Given the description of an element on the screen output the (x, y) to click on. 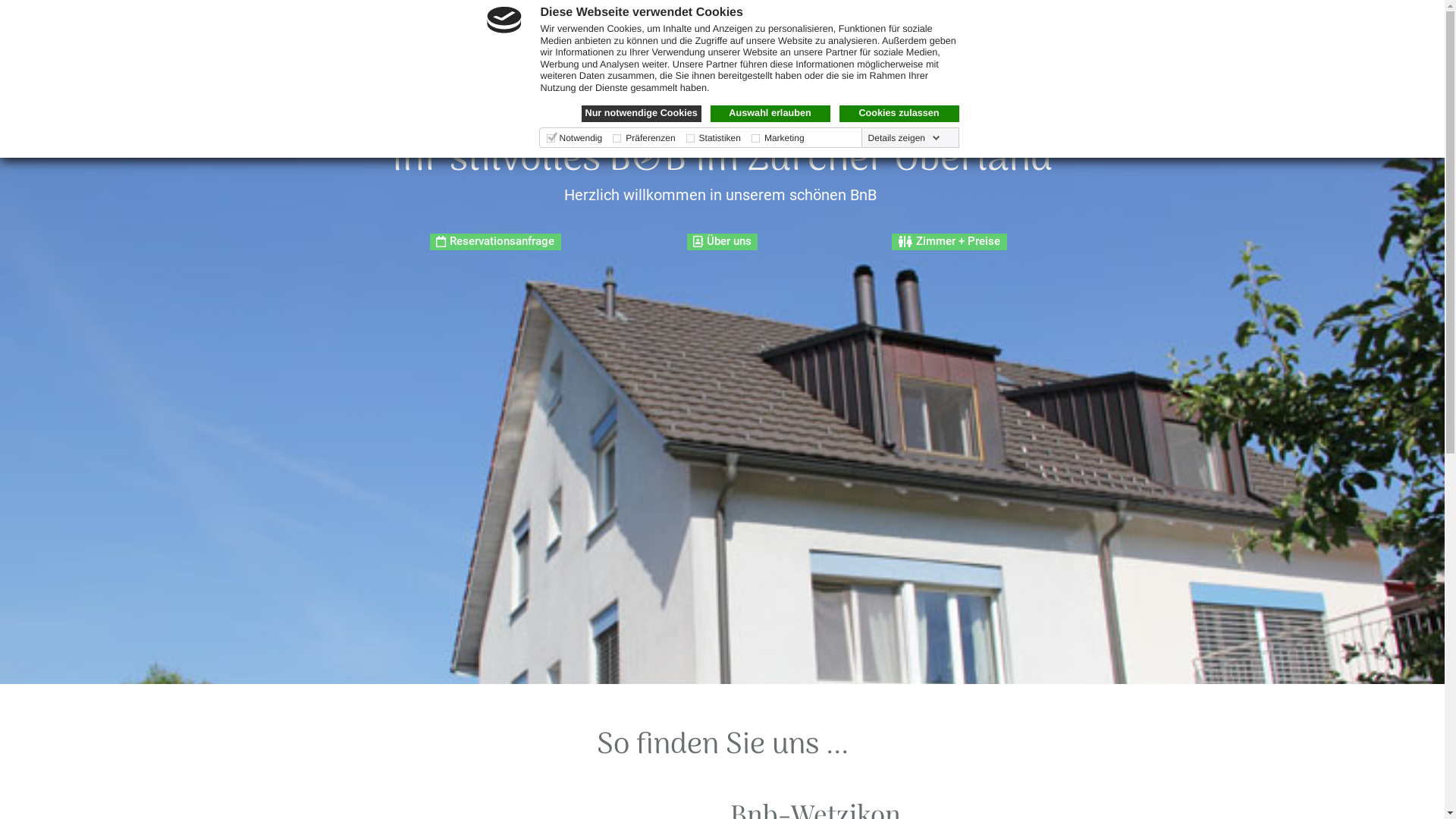
Home Element type: text (780, 39)
Details zeigen Element type: text (904, 137)
Nur notwendige Cookies Element type: text (640, 113)
Reservierung Element type: text (959, 39)
Auswahl erlauben Element type: text (769, 113)
Cookies zulassen Element type: text (898, 113)
Zimmer + Preise Element type: text (949, 241)
Reservationsanfrage Element type: text (495, 241)
